Given the description of an element on the screen output the (x, y) to click on. 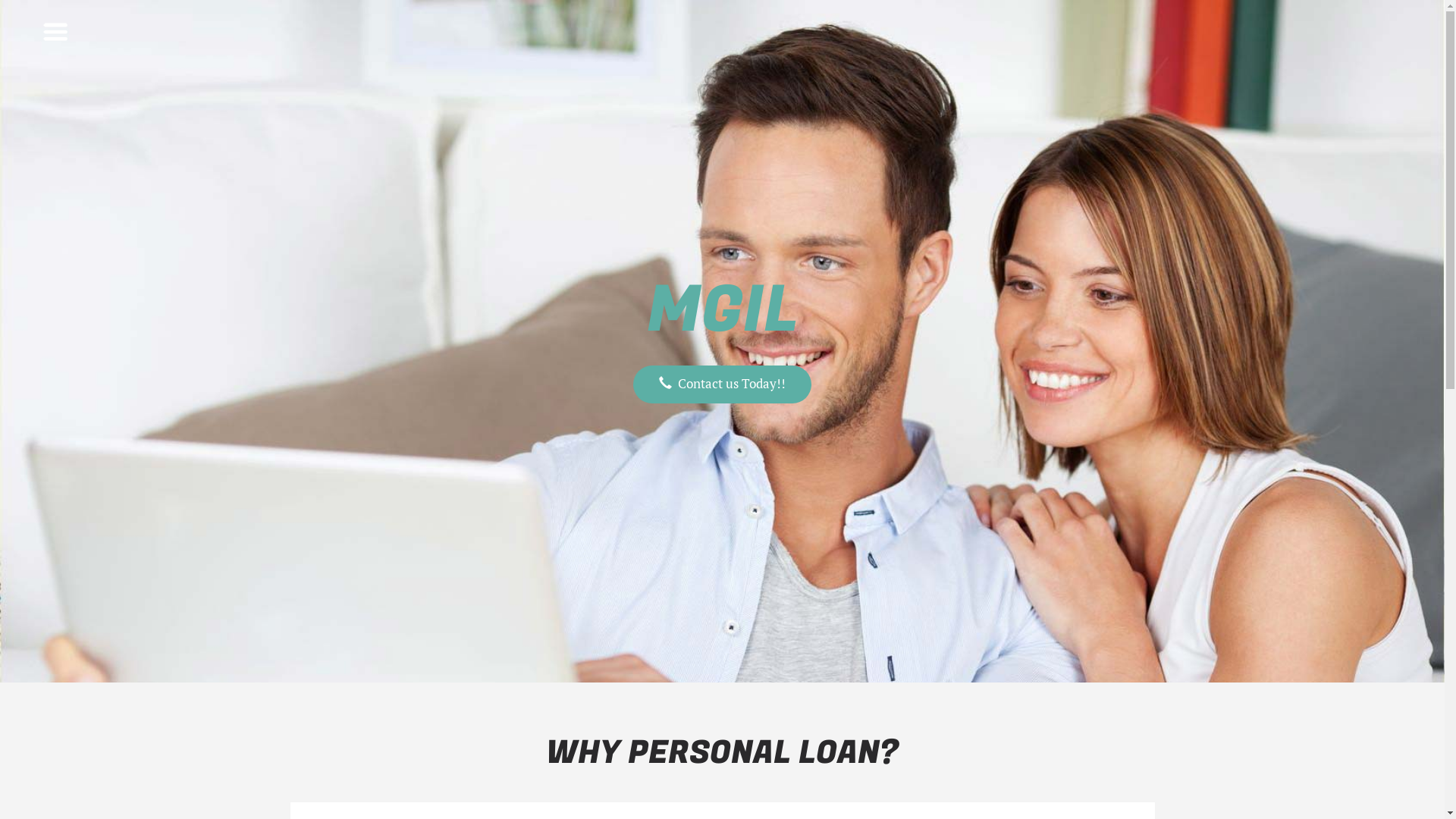
Contact us Today!! Element type: text (722, 384)
